Given the description of an element on the screen output the (x, y) to click on. 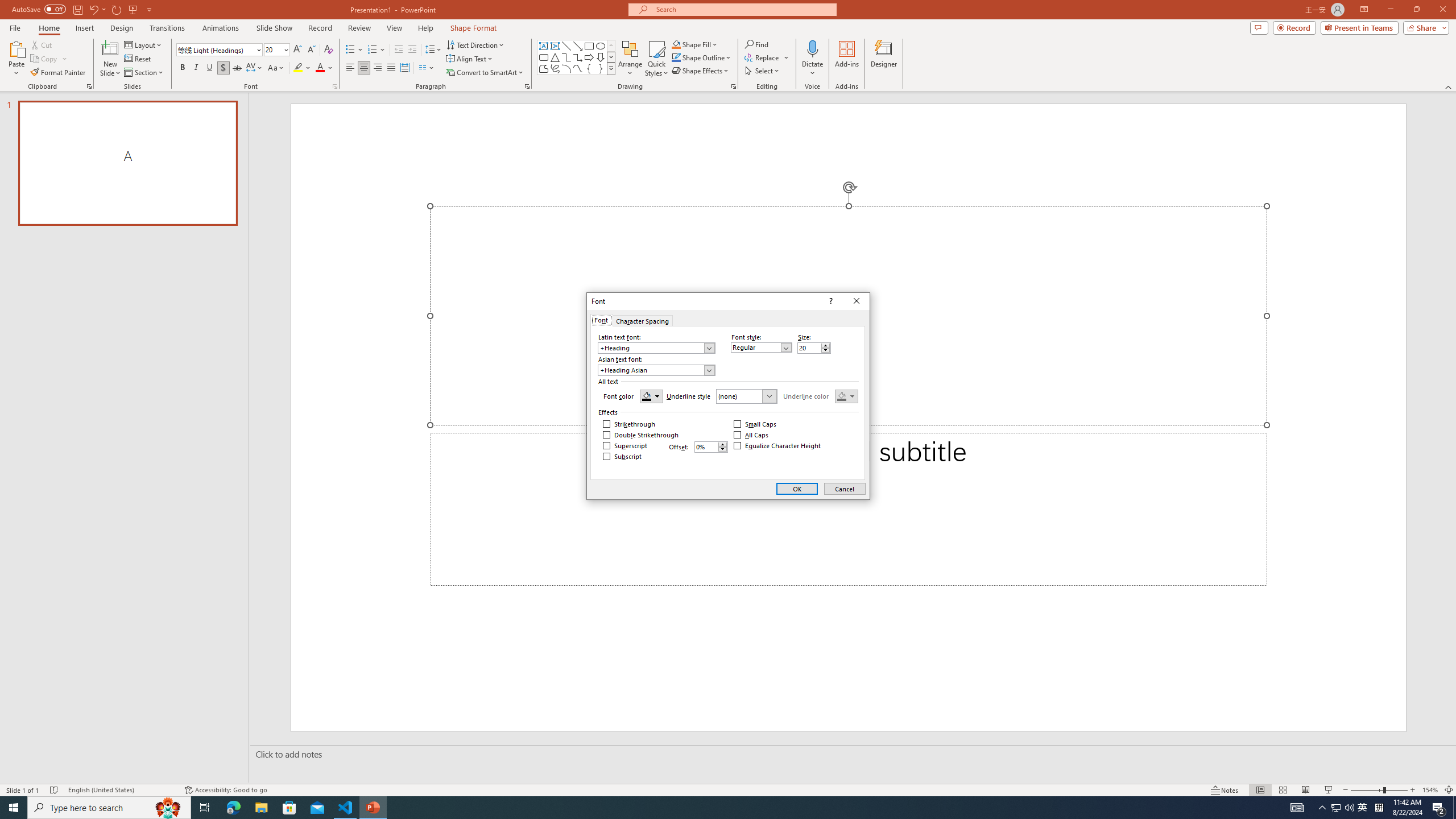
Asian text font (651, 370)
